Given the description of an element on the screen output the (x, y) to click on. 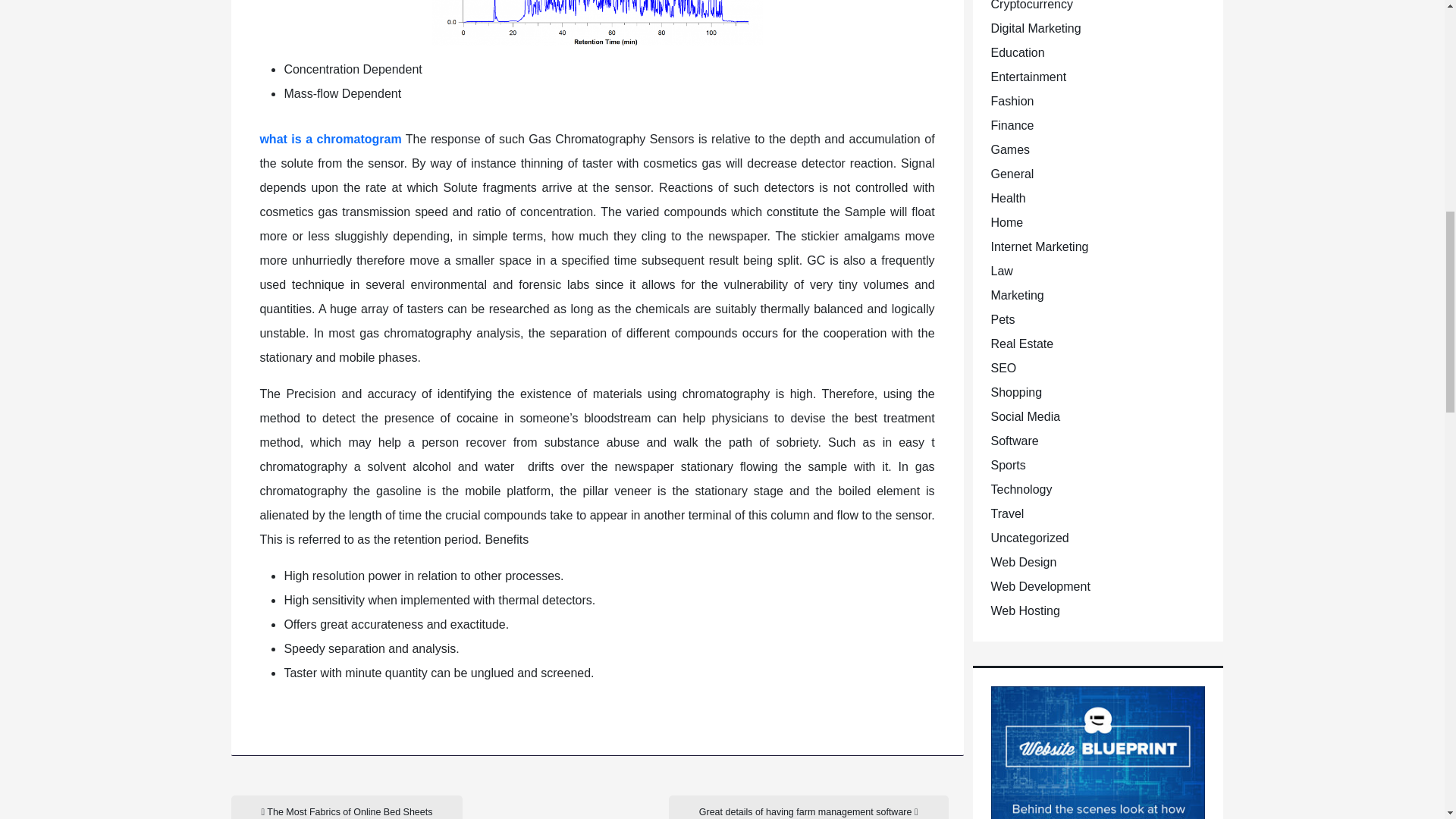
Pets (1002, 318)
Education (1016, 51)
SEO (1003, 367)
Games (1009, 149)
Entertainment (1027, 76)
Internet Marketing (1038, 246)
Fashion (1011, 101)
Home (1006, 222)
Law (1000, 270)
Cryptocurrency (1030, 5)
